Given the description of an element on the screen output the (x, y) to click on. 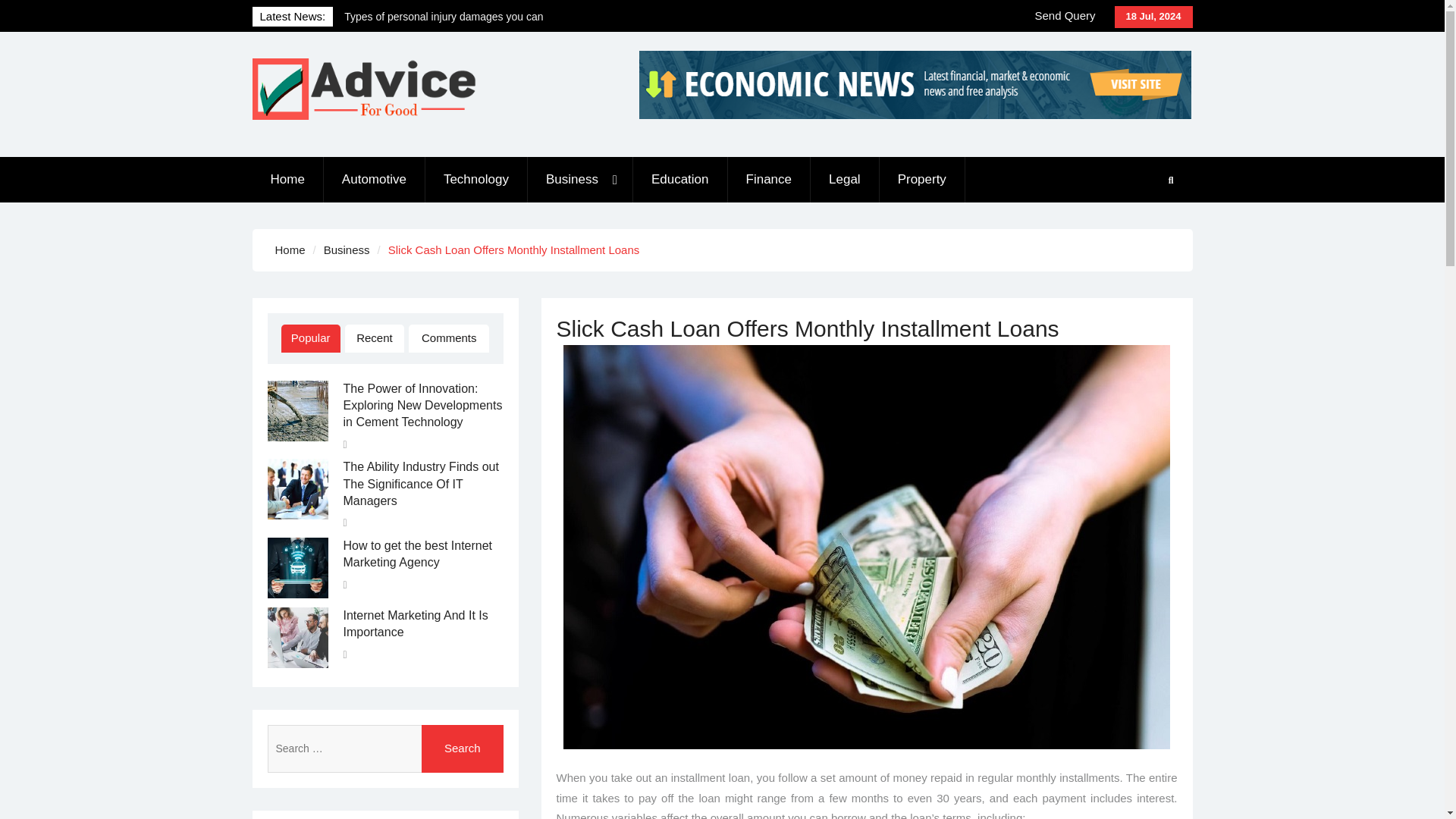
Search (462, 748)
Technology (476, 179)
Legal (844, 179)
Automotive (374, 179)
Home (289, 249)
Search (462, 748)
Education (680, 179)
Business (580, 179)
Property (922, 179)
Finance (769, 179)
Home (287, 179)
Send Query (1064, 15)
